Given the description of an element on the screen output the (x, y) to click on. 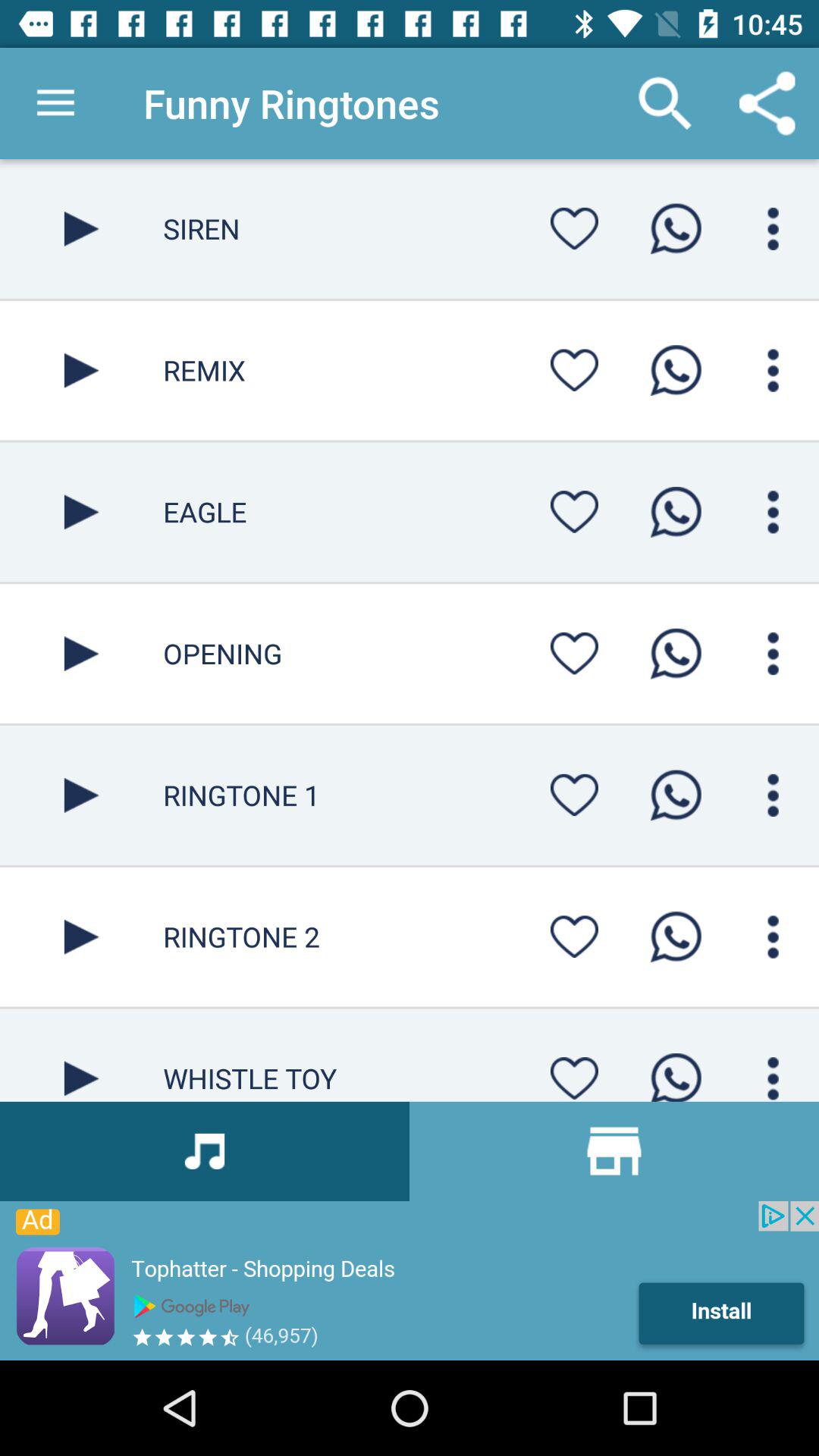
to see other options (773, 653)
